Given the description of an element on the screen output the (x, y) to click on. 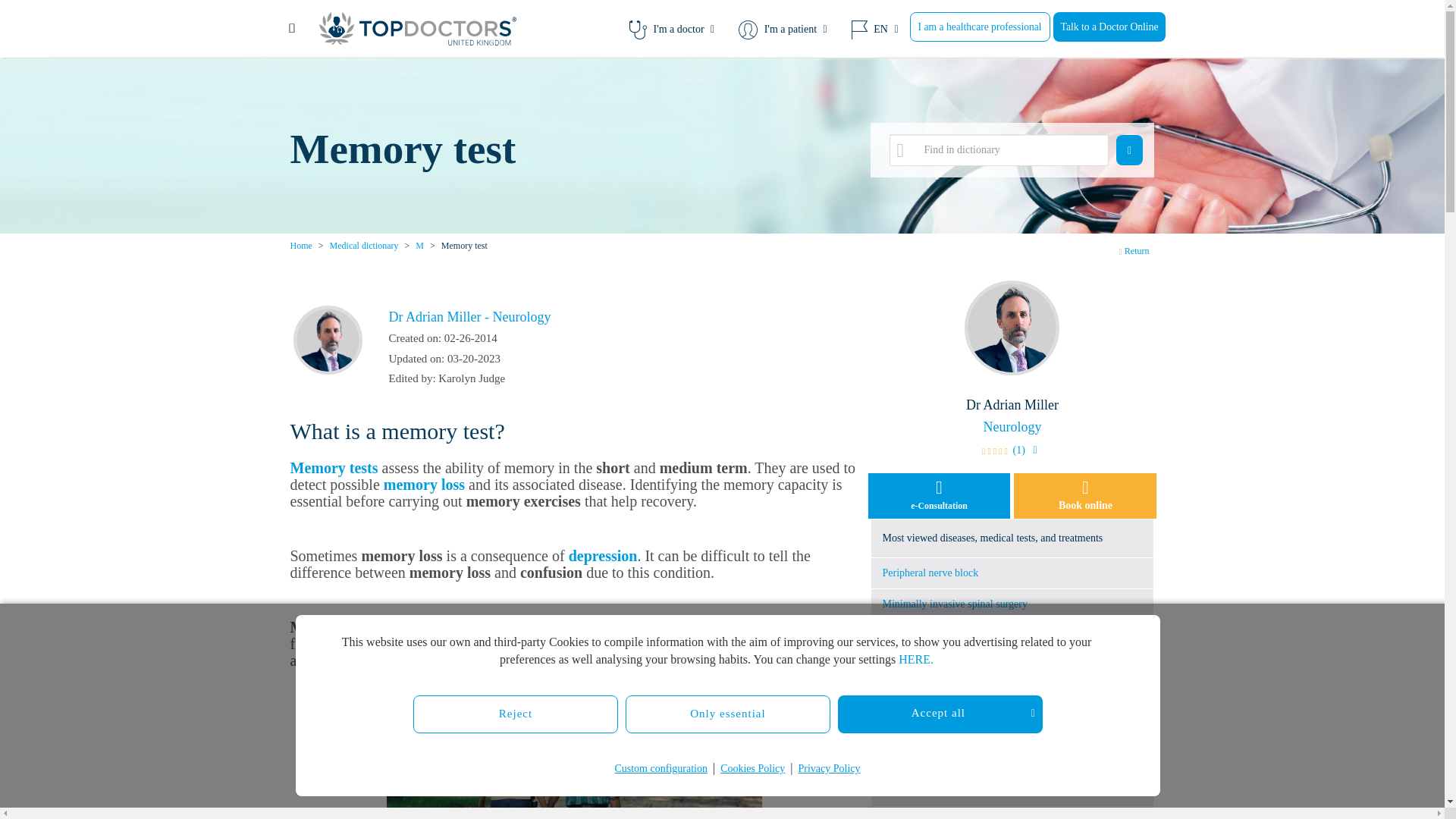
I'm a doctor (671, 28)
I am a healthcare professional (979, 26)
Talk to a Doctor Online (1109, 26)
I'm a patient (782, 28)
